Given the description of an element on the screen output the (x, y) to click on. 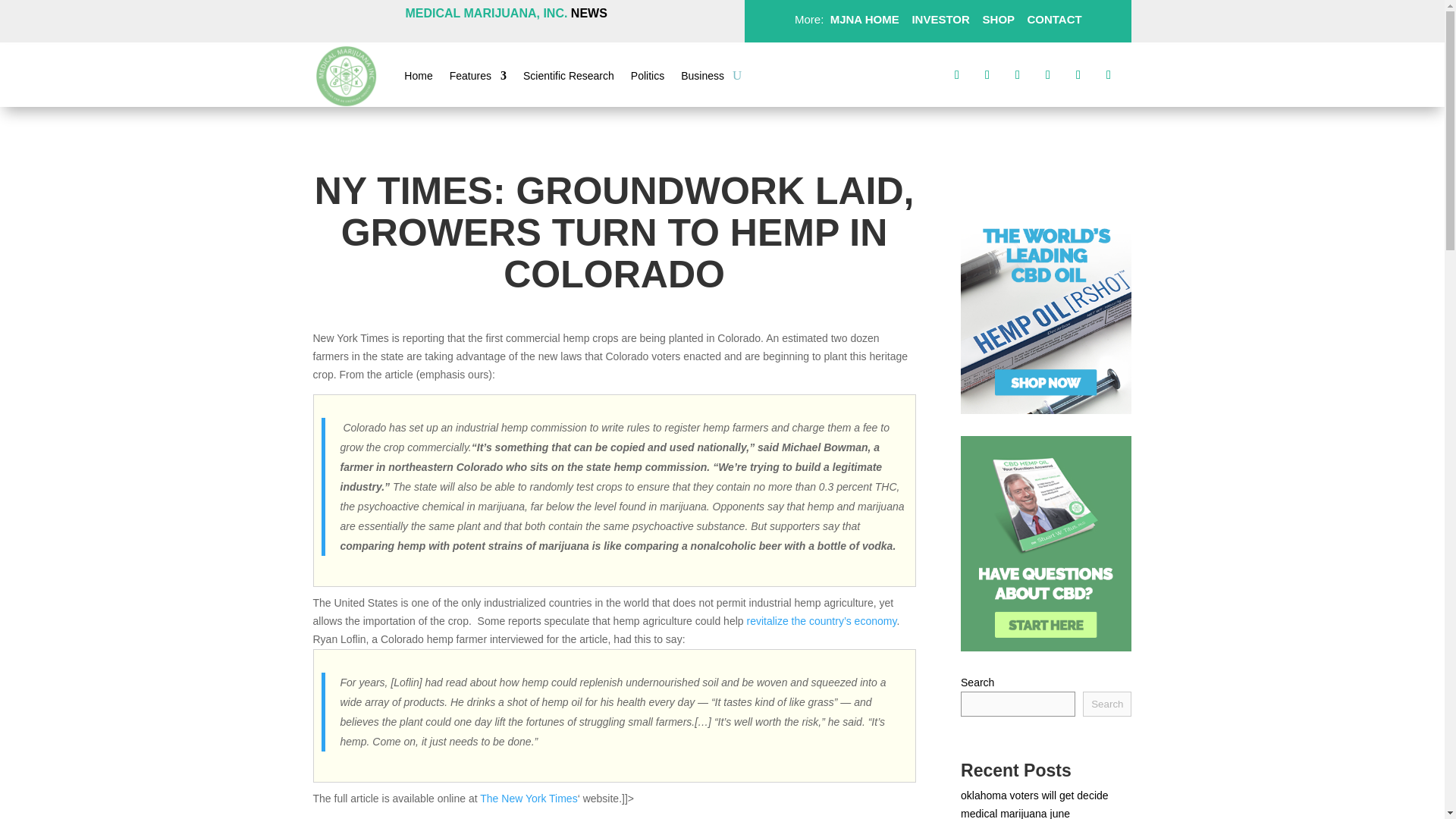
Follow on Pinterest (1047, 74)
Follow on Twitter (986, 74)
Follow on Facebook (956, 74)
INVESTOR (940, 19)
Follow on Youtube (1108, 74)
logo-medical-marijuana-inc (345, 76)
 CONTACT (1052, 19)
Follow on LinkedIn (1077, 74)
Business (702, 78)
MJNA HOME (862, 19)
Politics (646, 78)
Features (477, 78)
 SHOP (995, 19)
Scientific Research (568, 78)
